Given the description of an element on the screen output the (x, y) to click on. 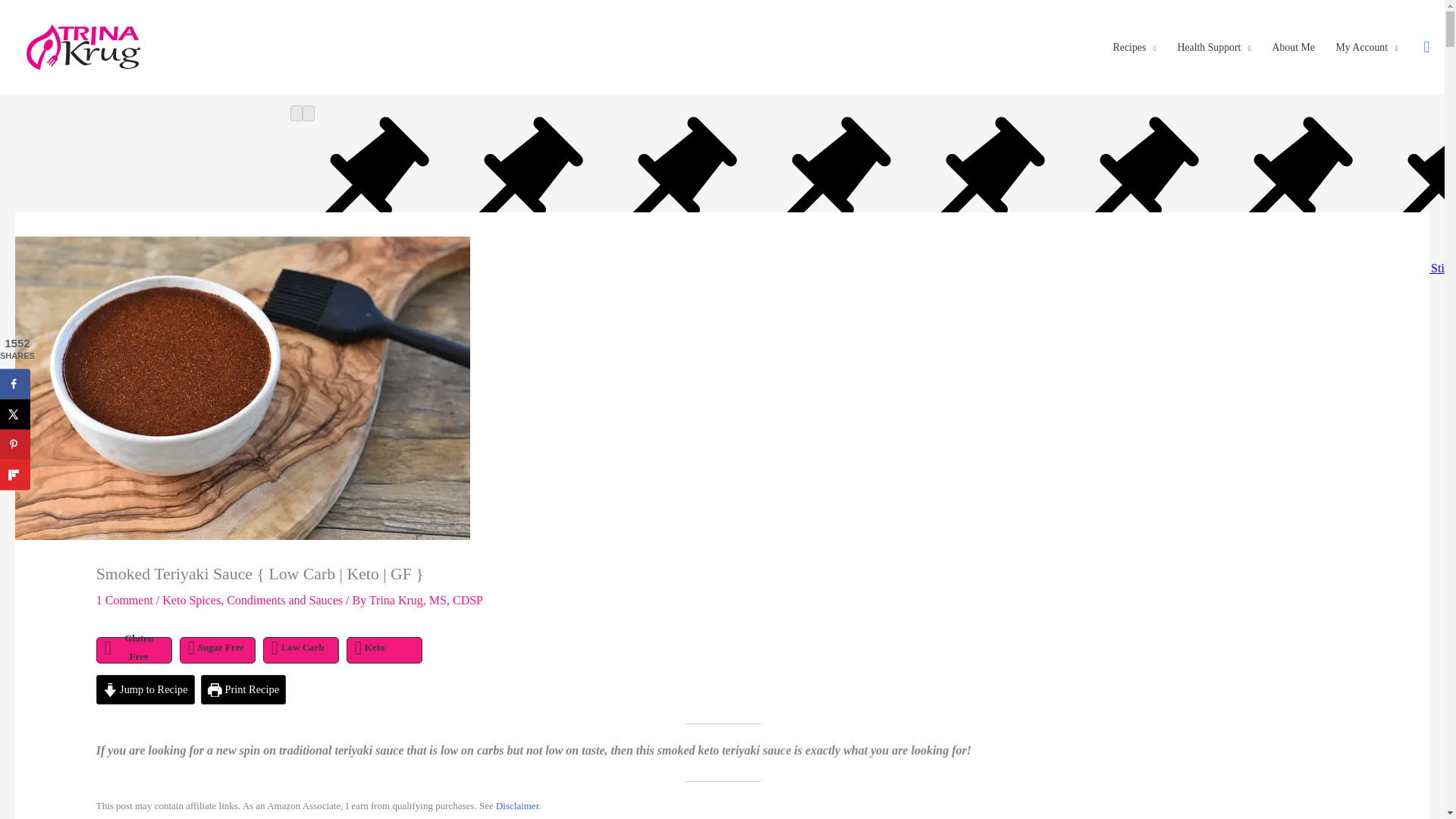
View all posts by Trina Krug, MS, CDSP (426, 599)
Health Support (1214, 47)
About Me (1293, 47)
Recipes (1134, 47)
My Account (1366, 47)
